Given the description of an element on the screen output the (x, y) to click on. 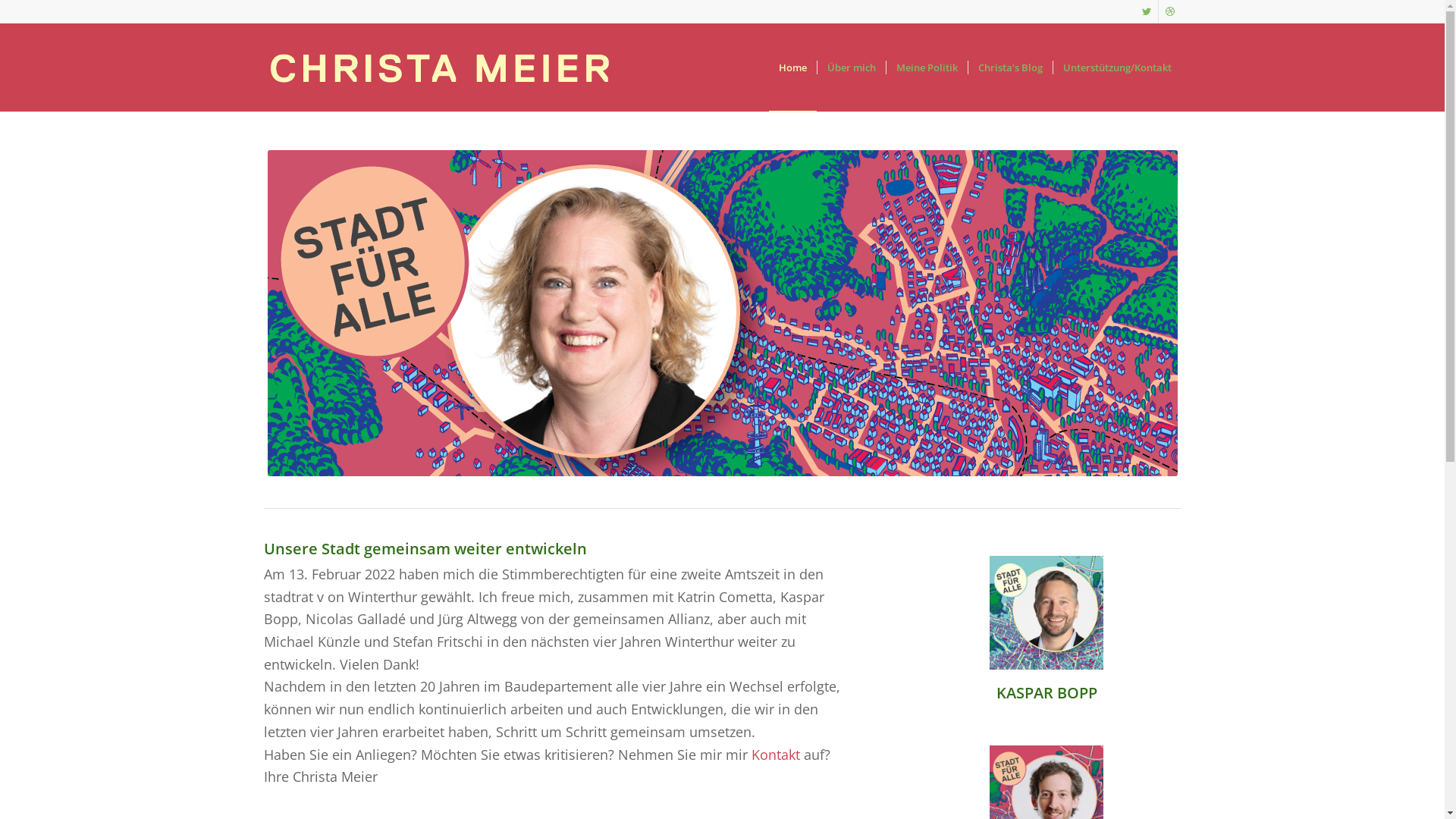
Meine Politik Element type: text (926, 67)
Dribbble Element type: hover (1169, 11)
Website-Header_SR2 Element type: hover (721, 313)
KASPAR BOPP Element type: text (1046, 692)
Home Element type: text (792, 67)
Kontakt Element type: text (774, 753)
Twitter Element type: hover (1146, 11)
Schriftzug_Website_Meier_transp Element type: hover (439, 67)
